Given the description of an element on the screen output the (x, y) to click on. 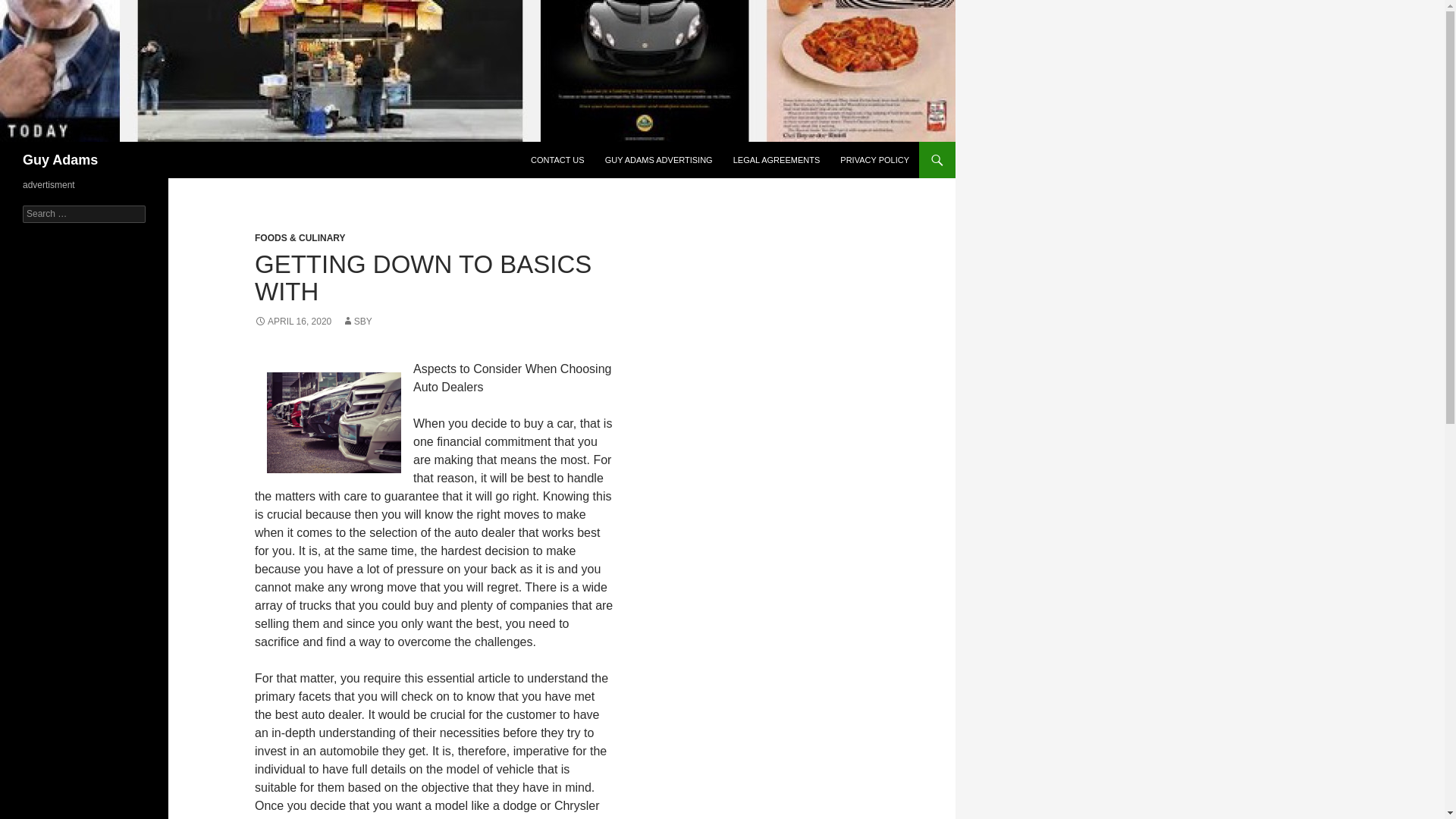
LEGAL AGREEMENTS (776, 159)
GUY ADAMS ADVERTISING (658, 159)
CONTACT US (557, 159)
PRIVACY POLICY (874, 159)
SBY (357, 321)
Search (30, 8)
Guy Adams (60, 159)
APRIL 16, 2020 (292, 321)
